Given the description of an element on the screen output the (x, y) to click on. 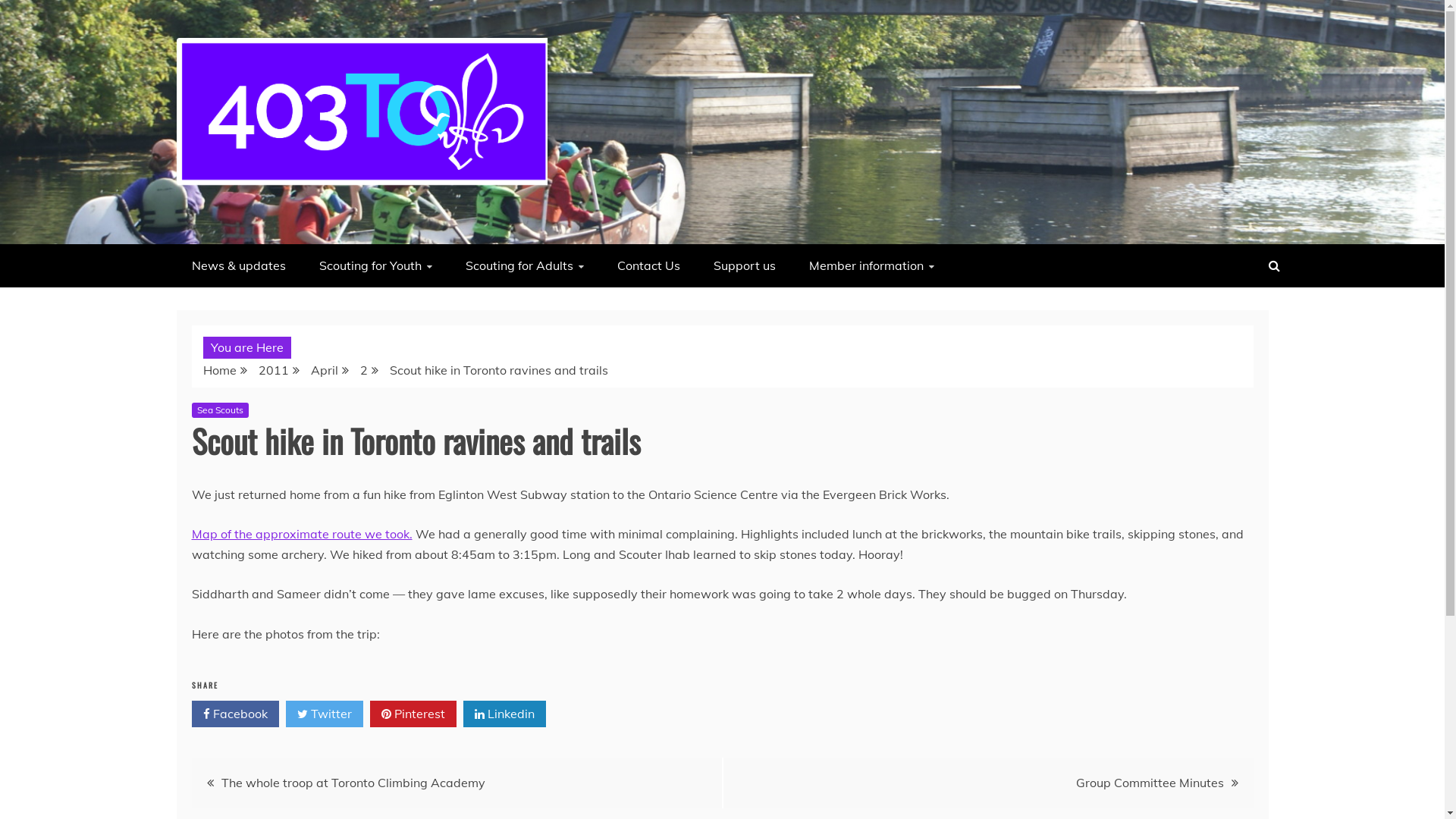
Linkedin Element type: text (503, 713)
403rd Toronto Sea Scout Group Element type: text (367, 224)
Contact Us Element type: text (648, 265)
Twitter Element type: text (323, 713)
Sea Scouts Element type: text (219, 409)
Facebook Element type: text (234, 713)
Group Committee Minutes Element type: text (1149, 782)
Map of the approximate route we took. Element type: text (301, 533)
Member information Element type: text (870, 265)
Support us Element type: text (743, 265)
News & updates Element type: text (237, 265)
Home Element type: text (219, 369)
Scouting for Youth Element type: text (374, 265)
2011 Element type: text (272, 369)
Scouting for Adults Element type: text (524, 265)
The whole troop at Toronto Climbing Academy Element type: text (353, 782)
April Element type: text (324, 369)
Pinterest Element type: text (413, 713)
2 Element type: text (363, 369)
